Given the description of an element on the screen output the (x, y) to click on. 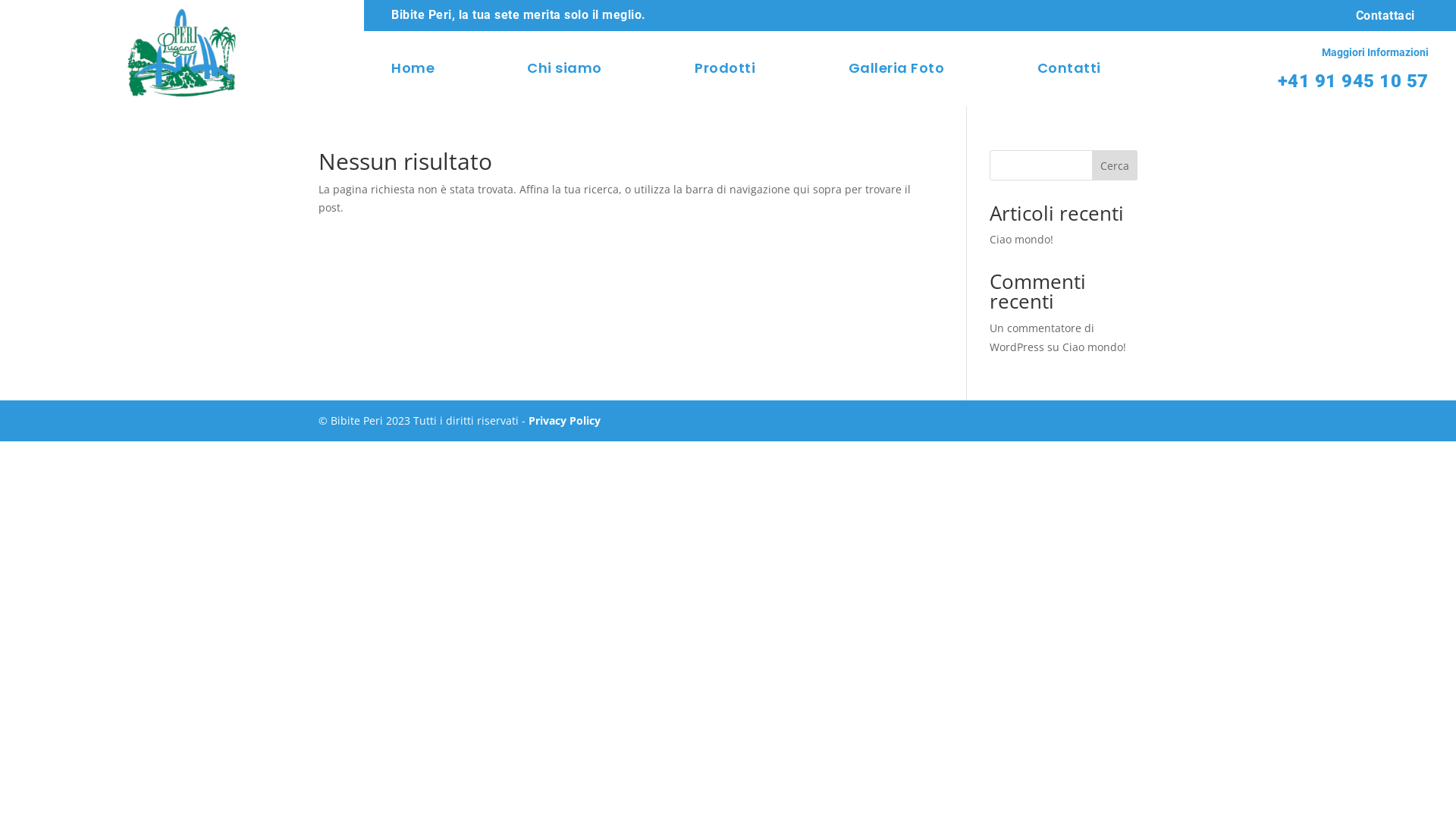
Contatti Element type: text (1069, 70)
Ciao mondo! Element type: text (1094, 346)
Contattaci Element type: text (1385, 15)
Cerca Element type: text (1114, 165)
+41 91 945 10 57 Element type: text (1352, 80)
Home Element type: text (412, 70)
Galleria Foto Element type: text (896, 70)
Un commentatore di WordPress Element type: text (1041, 337)
Prodotti Element type: text (724, 70)
bibite-peri-logo-2 Element type: hover (181, 52)
Privacy Policy Element type: text (564, 420)
Chi siamo Element type: text (564, 70)
Ciao mondo! Element type: text (1021, 239)
